Given the description of an element on the screen output the (x, y) to click on. 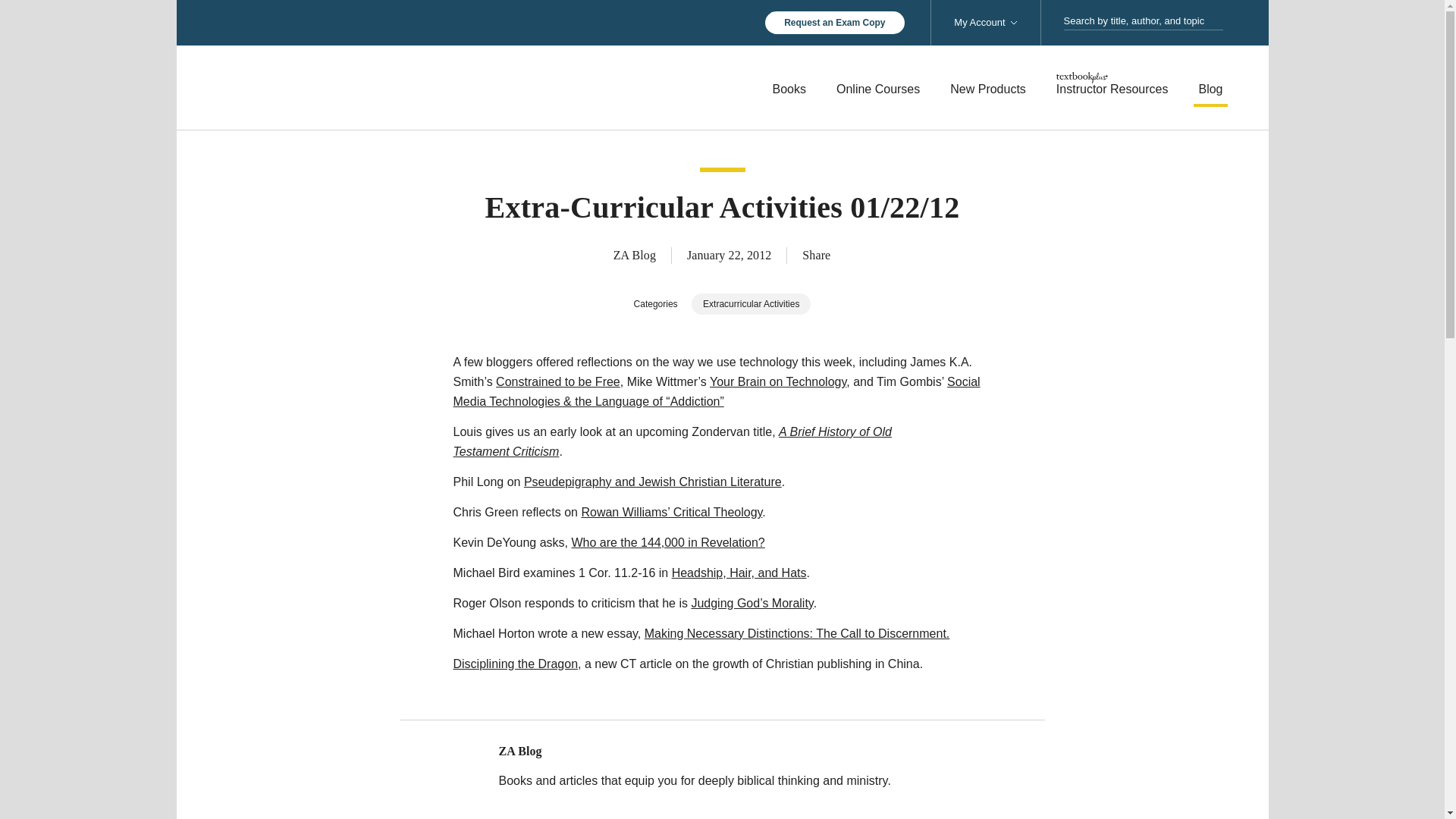
Books (789, 89)
Search (1217, 20)
Online Courses (877, 89)
Request an Exam Copy (834, 22)
Books (789, 89)
Zondervan Academic (373, 86)
Request an Exam Copy (834, 22)
Zondervan (373, 86)
